Given the description of an element on the screen output the (x, y) to click on. 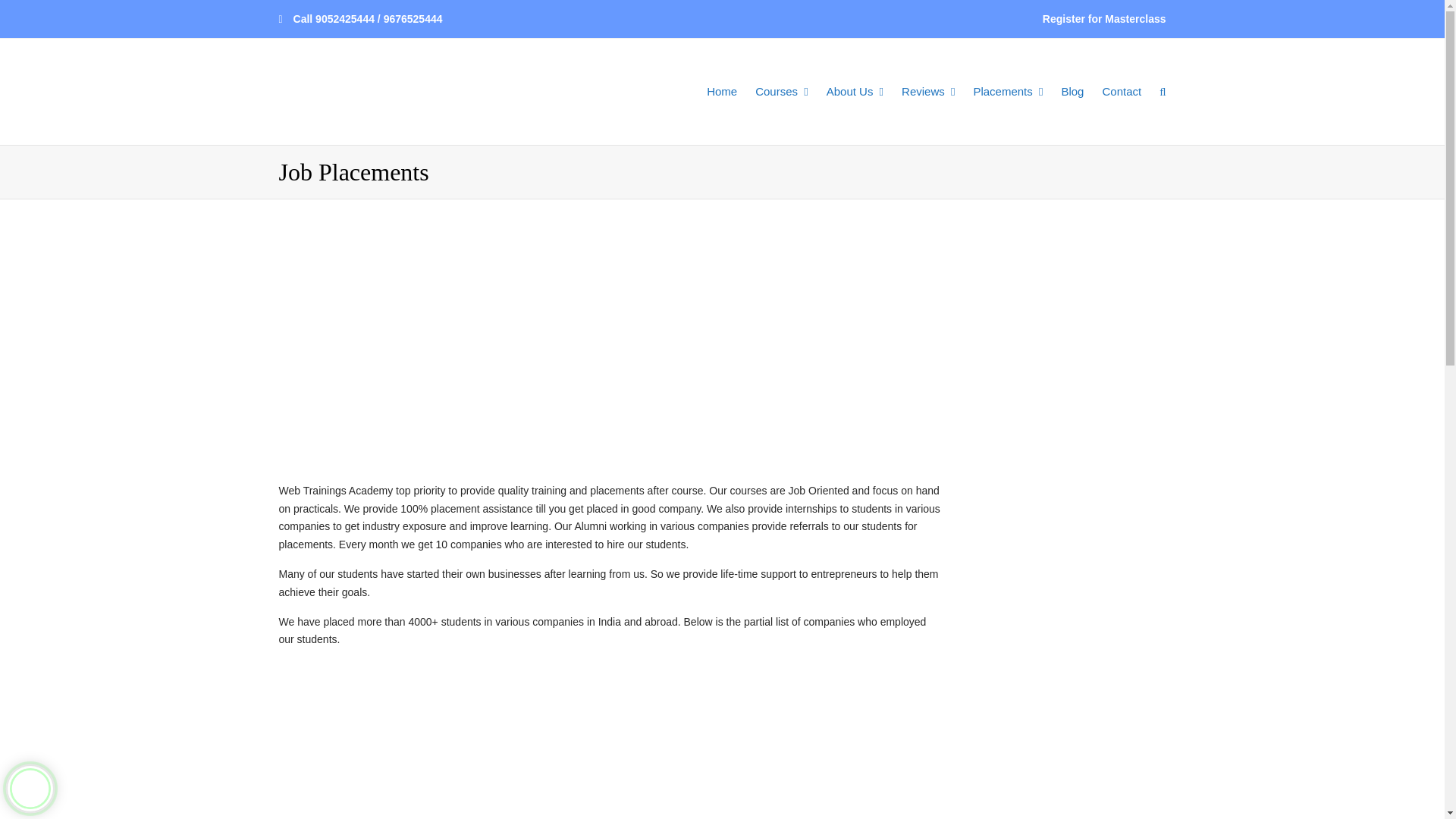
Courses (780, 91)
Web Trainings (362, 91)
9052425444 (344, 19)
Blog (1072, 91)
Contact (1121, 91)
Register for Masterclass (1104, 19)
9676525444 (413, 19)
Reviews (927, 91)
Home (721, 91)
About Us (854, 91)
